Given the description of an element on the screen output the (x, y) to click on. 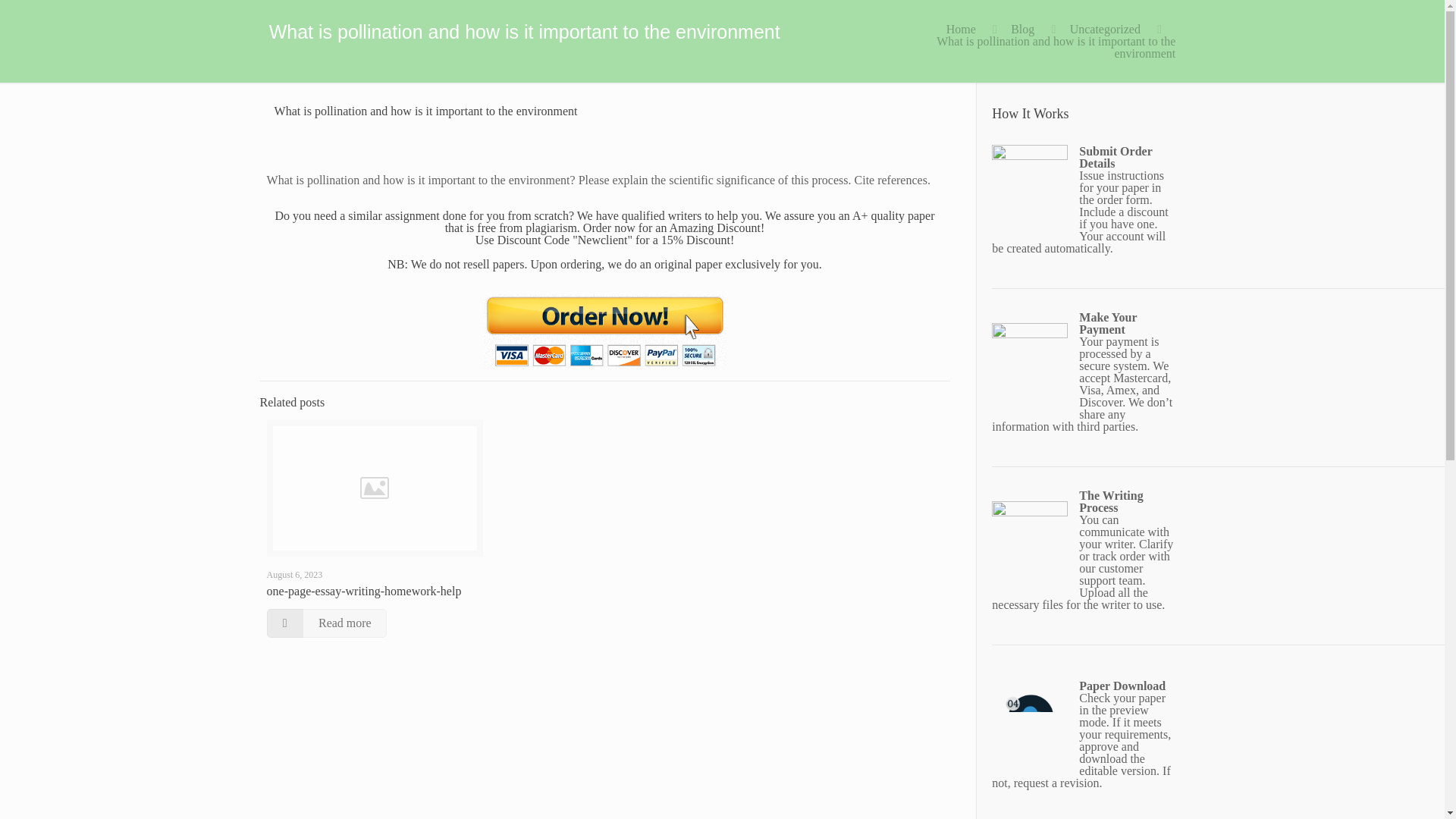
Home (960, 29)
Read more (326, 623)
Blog (1021, 29)
one-page-essay-writing-homework-help (363, 590)
Uncategorized (1105, 29)
